Given the description of an element on the screen output the (x, y) to click on. 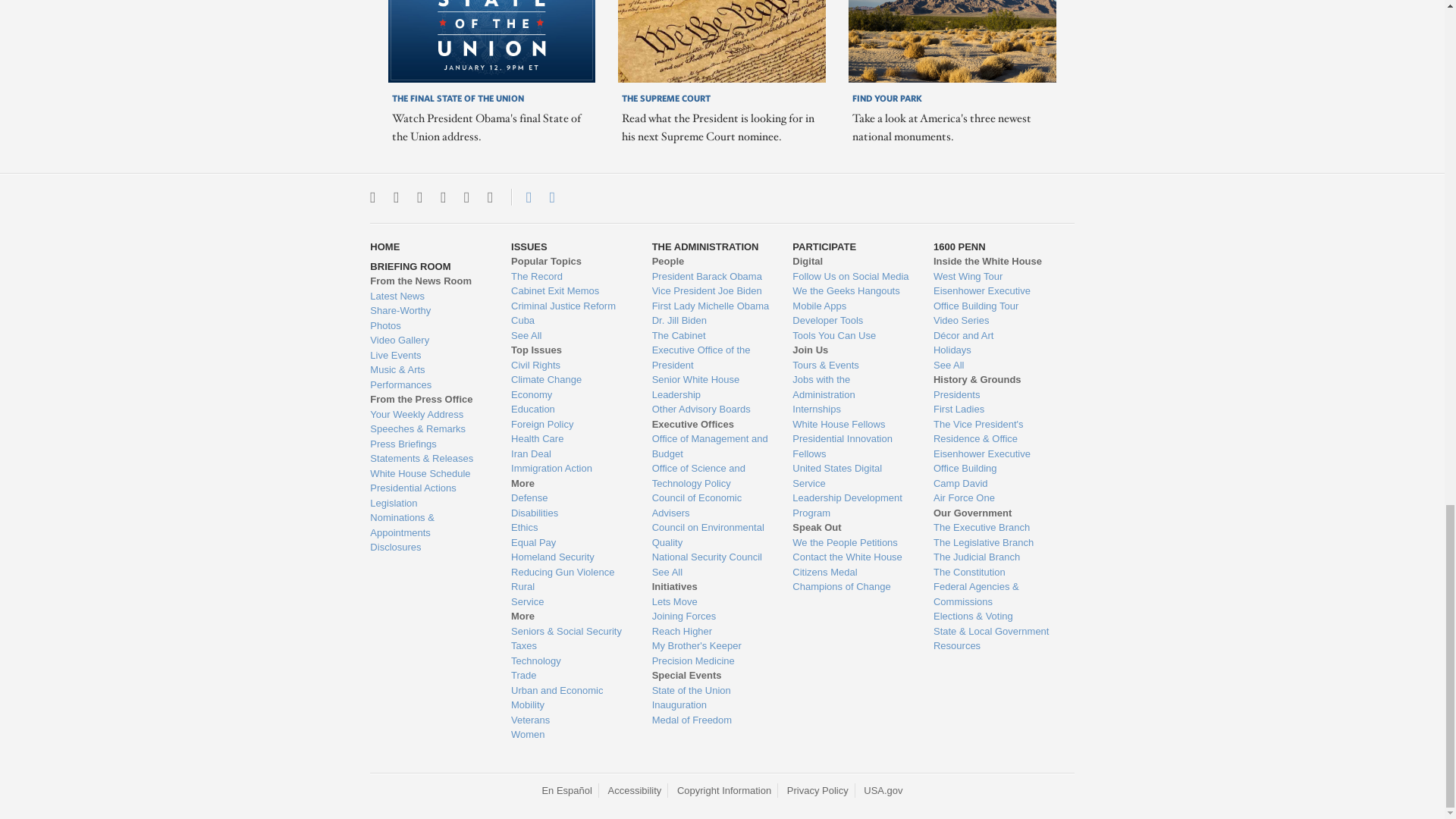
Contact the Whitehouse. (521, 197)
